Given the description of an element on the screen output the (x, y) to click on. 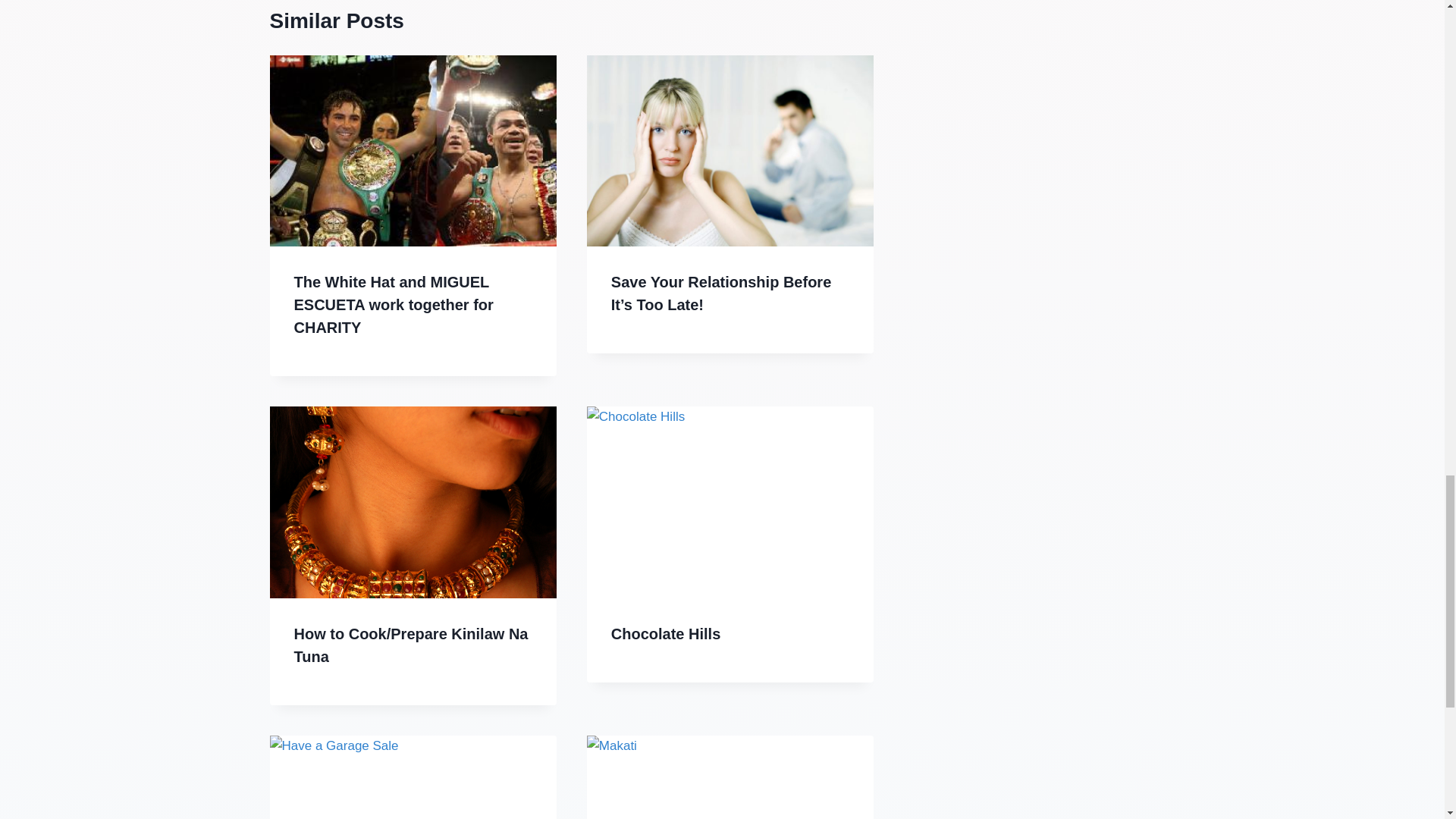
The White Hat and MIGUEL ESCUETA work together for CHARITY (393, 304)
Chocolate Hills (665, 633)
